Given the description of an element on the screen output the (x, y) to click on. 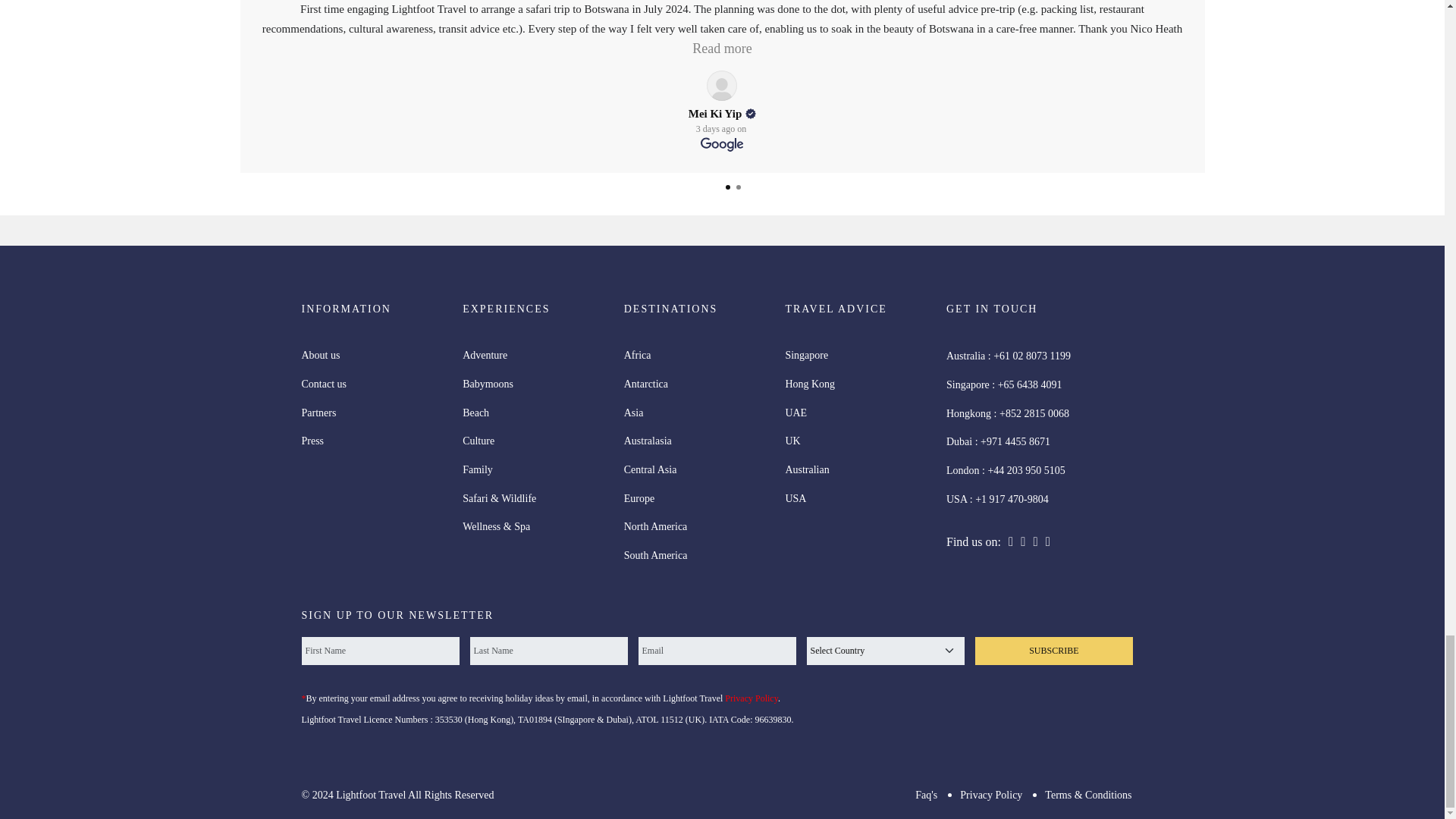
Subscribe (1054, 651)
